Given the description of an element on the screen output the (x, y) to click on. 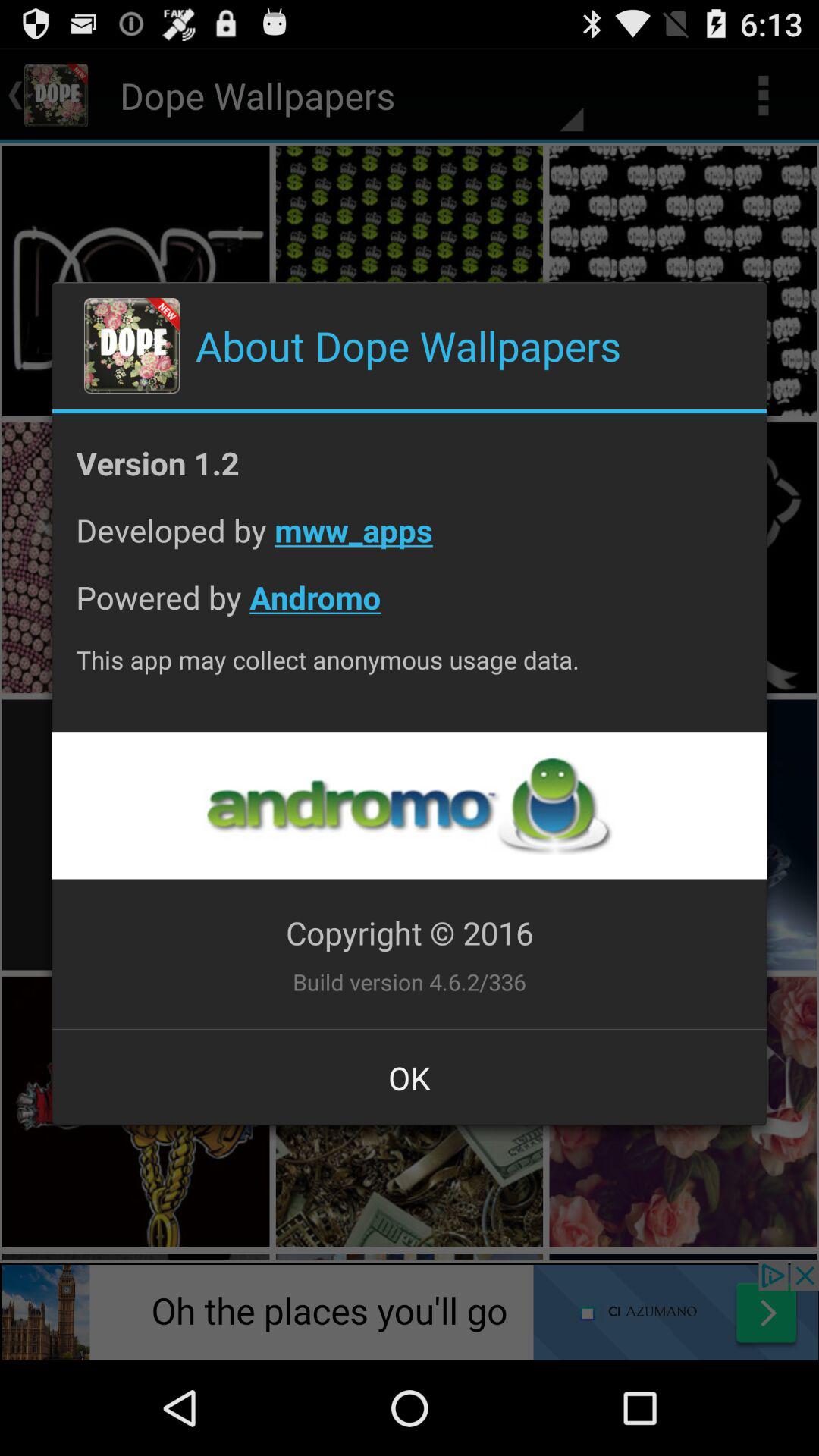
opens a link to the developer (408, 805)
